Given the description of an element on the screen output the (x, y) to click on. 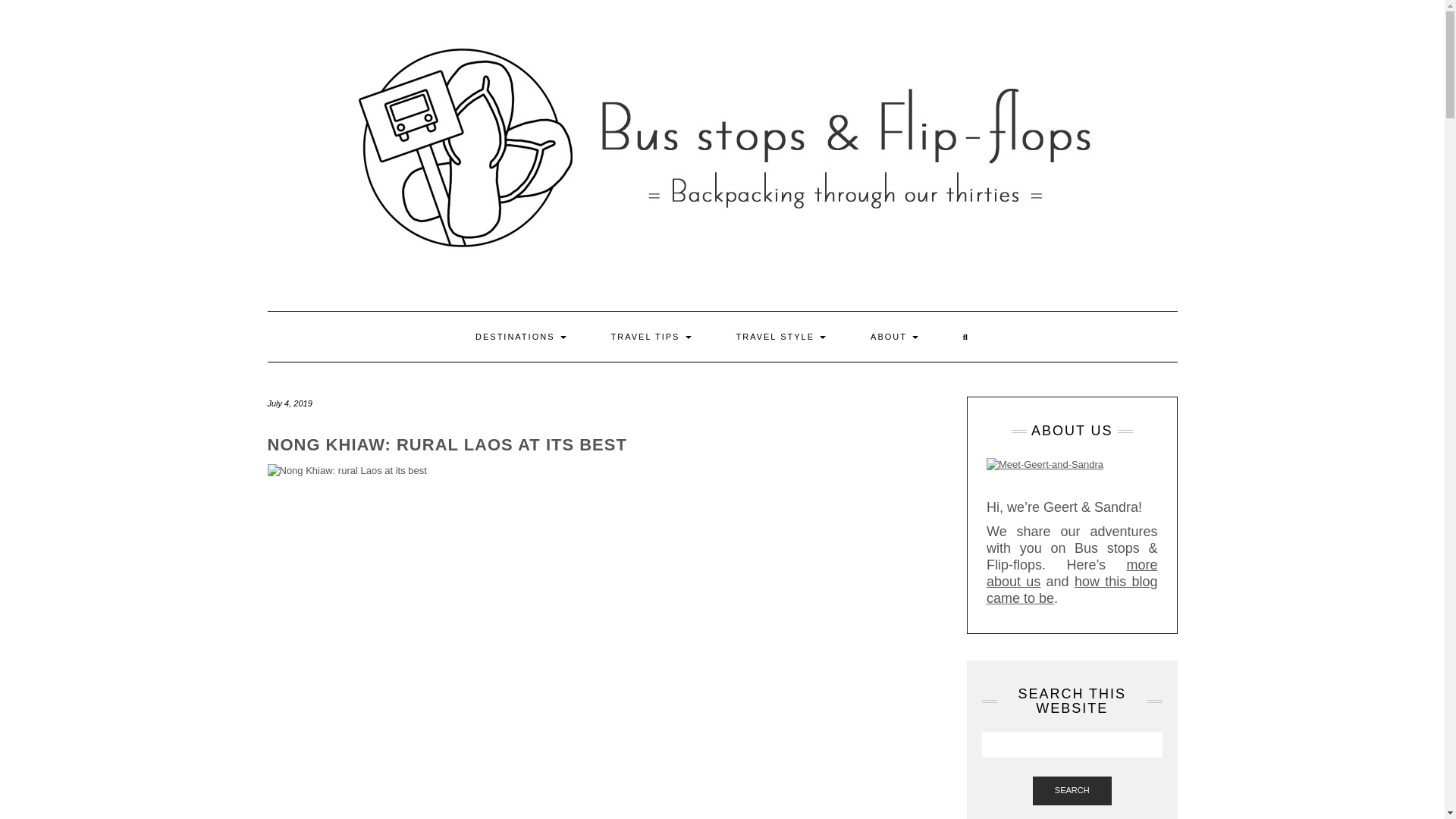
TRAVEL STYLE (781, 336)
ABOUT (894, 336)
TRAVEL TIPS (651, 336)
DESTINATIONS (520, 336)
